Given the description of an element on the screen output the (x, y) to click on. 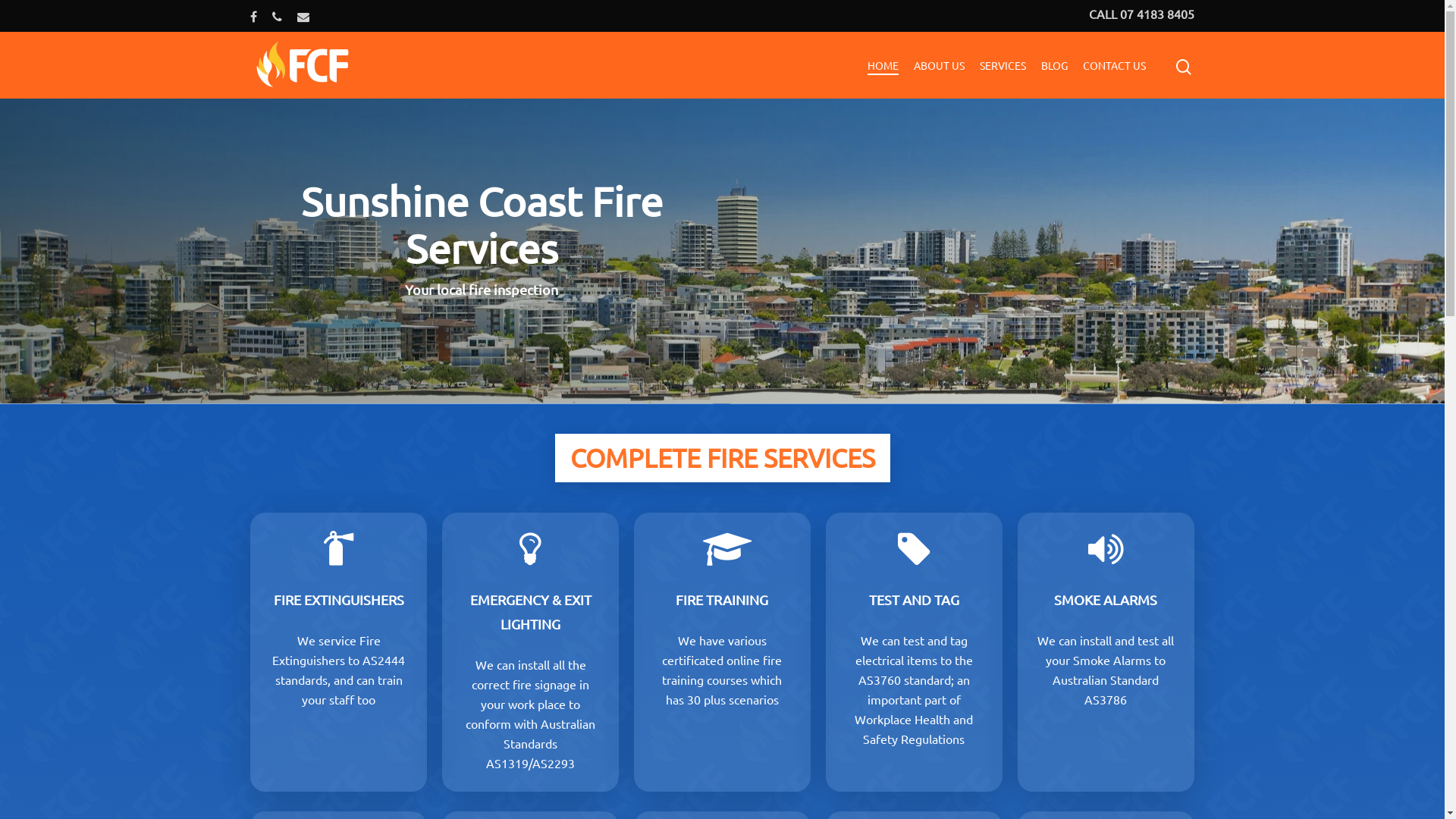
SERVICES Element type: text (1002, 64)
HOME Element type: text (882, 64)
CALL 07 4183 8405 Element type: text (1141, 13)
ABOUT US Element type: text (938, 64)
CONTACT US Element type: text (1113, 64)
1300 323 753 Element type: text (430, 702)
BLOG Element type: text (1054, 64)
Contact Us
Contact Us Element type: text (1040, 657)
07 4183 8405 Element type: text (1066, 617)
